Given the description of an element on the screen output the (x, y) to click on. 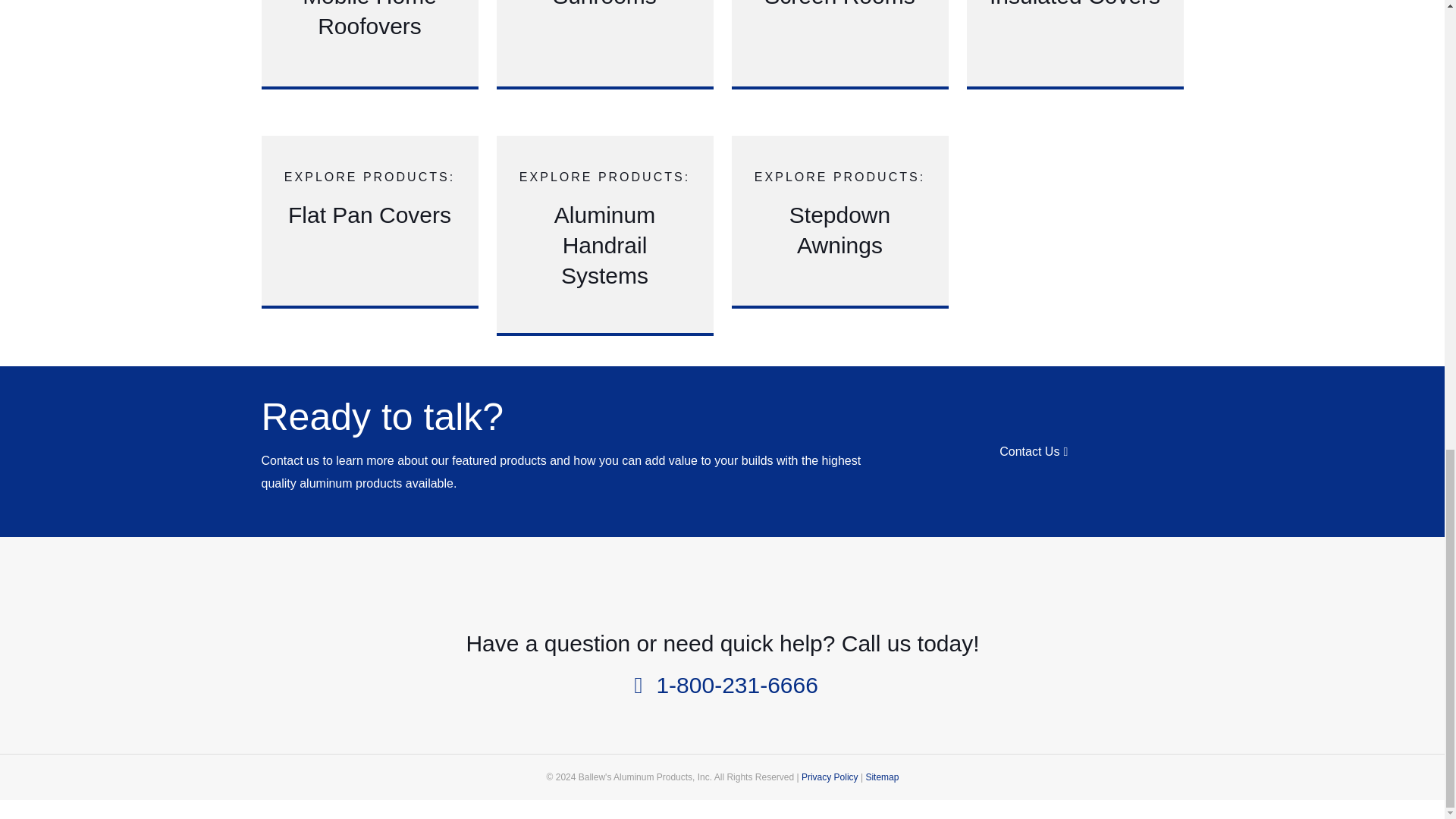
Contact Us (838, 218)
Privacy Policy (838, 26)
Sitemap (1035, 451)
